Given the description of an element on the screen output the (x, y) to click on. 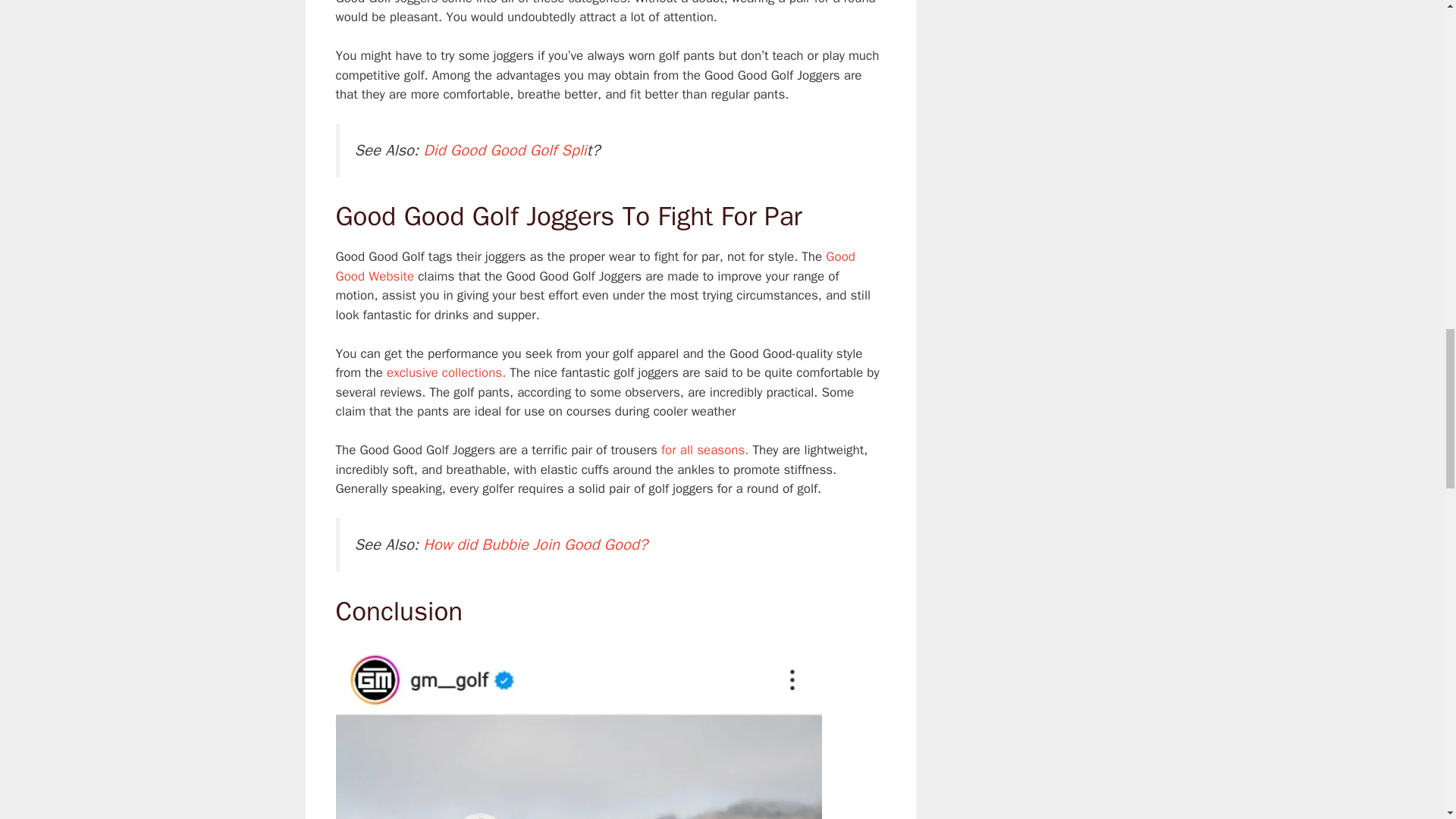
exclusive collections. (446, 372)
Good Good Website (595, 266)
for all seasons. (704, 449)
How did Bubbie Join Good Good? (535, 544)
Did Good Good Golf Spli (504, 149)
